Given the description of an element on the screen output the (x, y) to click on. 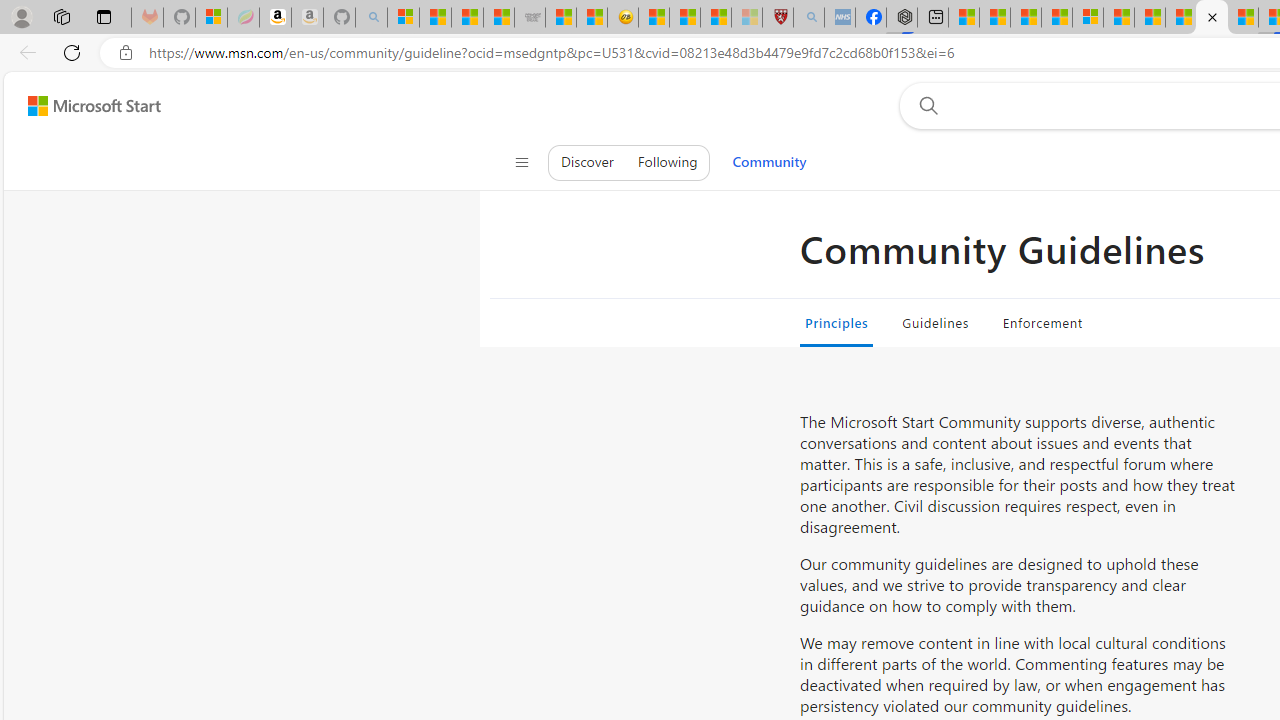
Personal Profile (21, 16)
NCL Adult Asthma Inhaler Choice Guideline - Sleeping (840, 17)
Web search (924, 105)
12 Popular Science Lies that Must be Corrected - Sleeping (746, 17)
Robert H. Shmerling, MD - Harvard Health (777, 17)
Tab actions menu (104, 16)
Discover (587, 161)
Microsoft account | Privacy (1087, 17)
Principles (837, 322)
Back (24, 52)
Microsoft Start (94, 105)
View site information (125, 53)
Workspaces (61, 16)
